Given the description of an element on the screen output the (x, y) to click on. 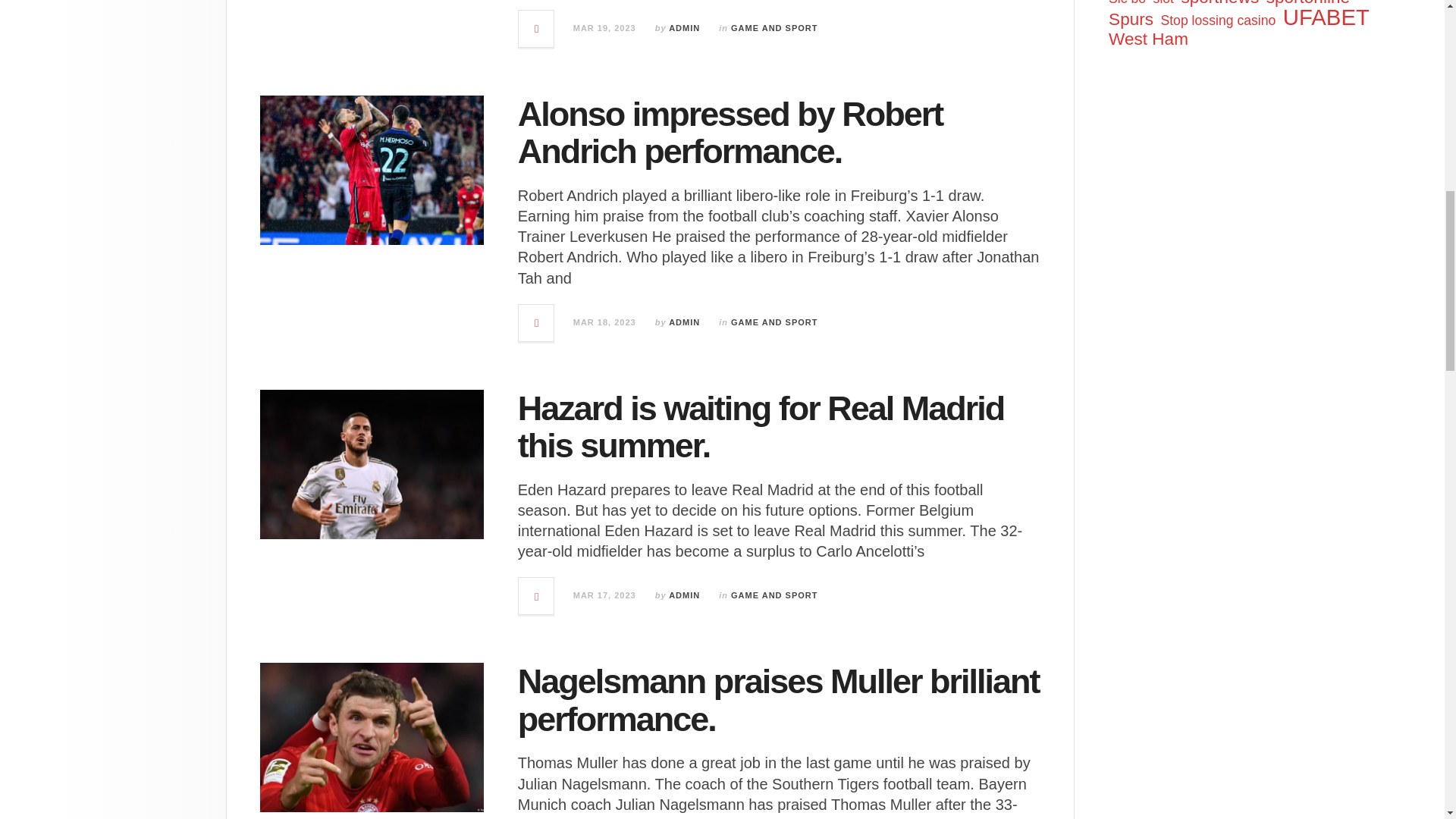
Nagelsmann praises Muller brilliant performance. (778, 699)
Read More... (536, 28)
ADMIN (684, 27)
ADMIN (684, 594)
Hazard is waiting for Real Madrid this summer. (761, 427)
Alonso impressed by Robert Andrich performance. (730, 133)
Posts by admin (684, 27)
ADMIN (684, 321)
View all posts in Game and Sport (773, 27)
GAME AND SPORT (773, 594)
GAME AND SPORT (773, 321)
GAME AND SPORT (773, 27)
